Given the description of an element on the screen output the (x, y) to click on. 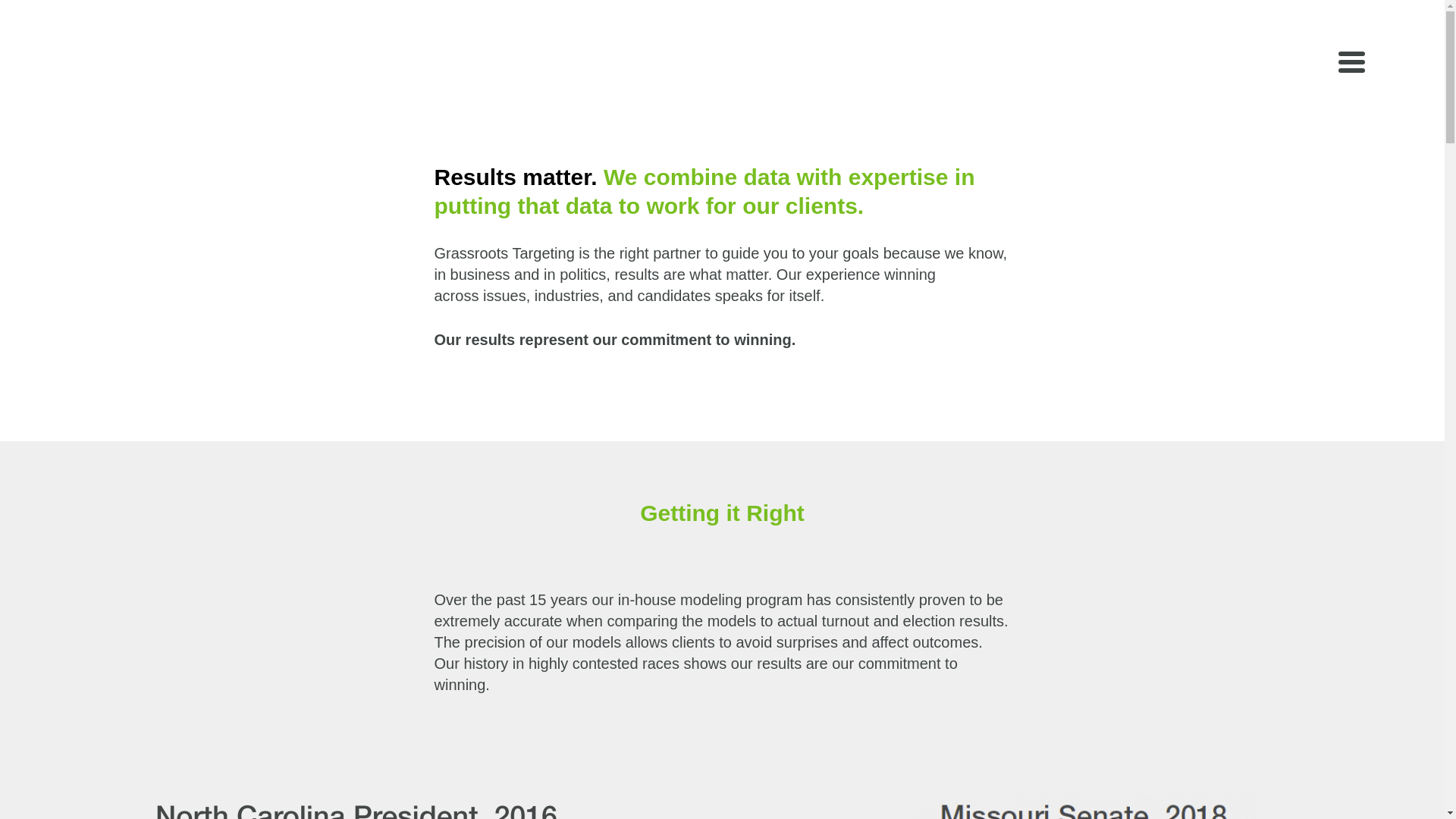
MissouriSenate-2018 (1083, 801)
